Given the description of an element on the screen output the (x, y) to click on. 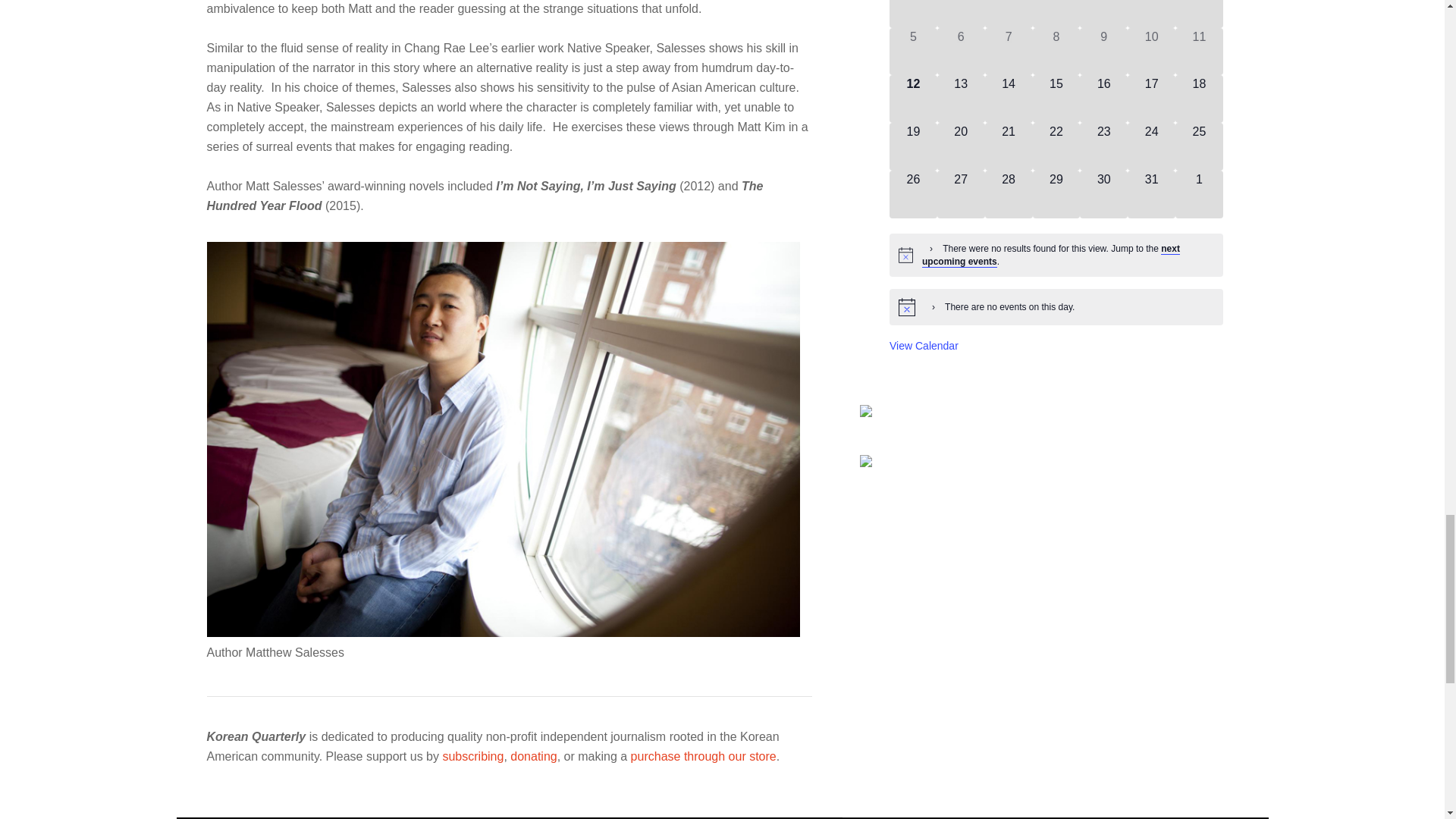
donating (533, 756)
View more events. (923, 345)
subscribing (472, 756)
purchase through our store (703, 756)
